Given the description of an element on the screen output the (x, y) to click on. 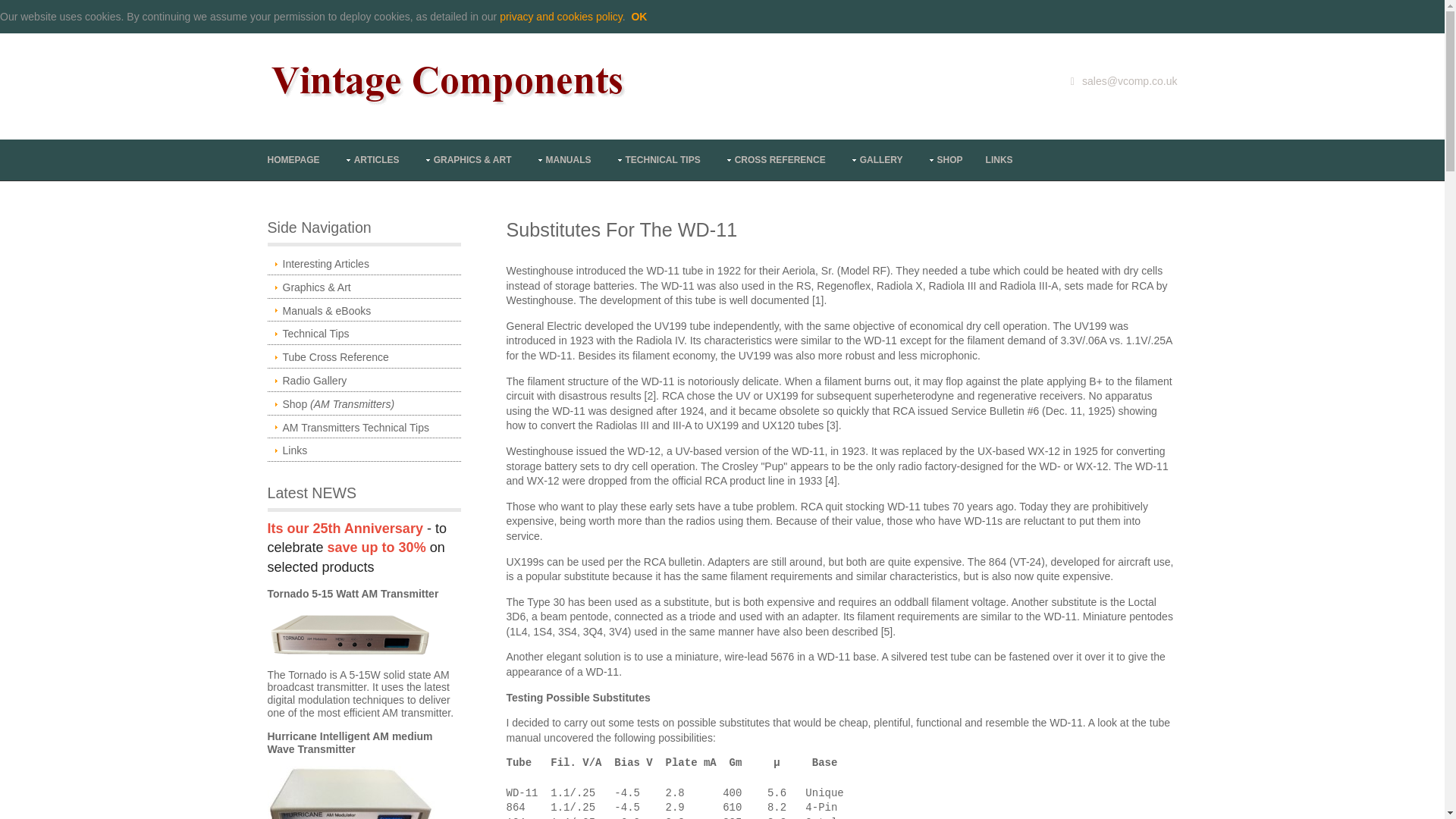
GALLERY (875, 159)
Homepage (292, 159)
Articles (370, 159)
CROSS REFERENCE (774, 159)
MANUALS (562, 159)
privacy and cookies policy (561, 16)
ARTICLES (370, 159)
 OK (637, 16)
TECHNICAL TIPS (657, 159)
Manuals (562, 159)
